Given the description of an element on the screen output the (x, y) to click on. 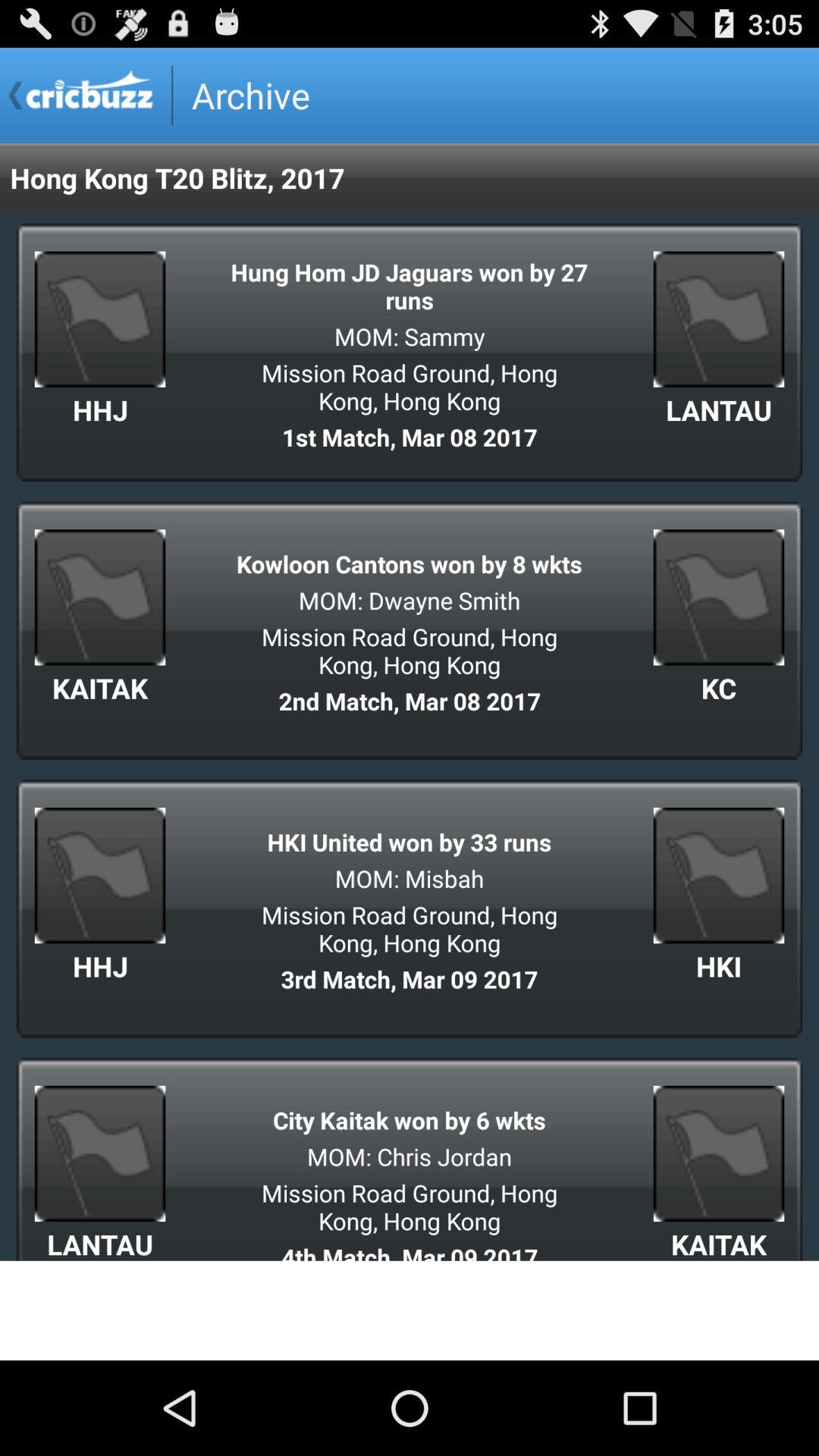
turn on the item above mom: chris jordan app (409, 1119)
